Given the description of an element on the screen output the (x, y) to click on. 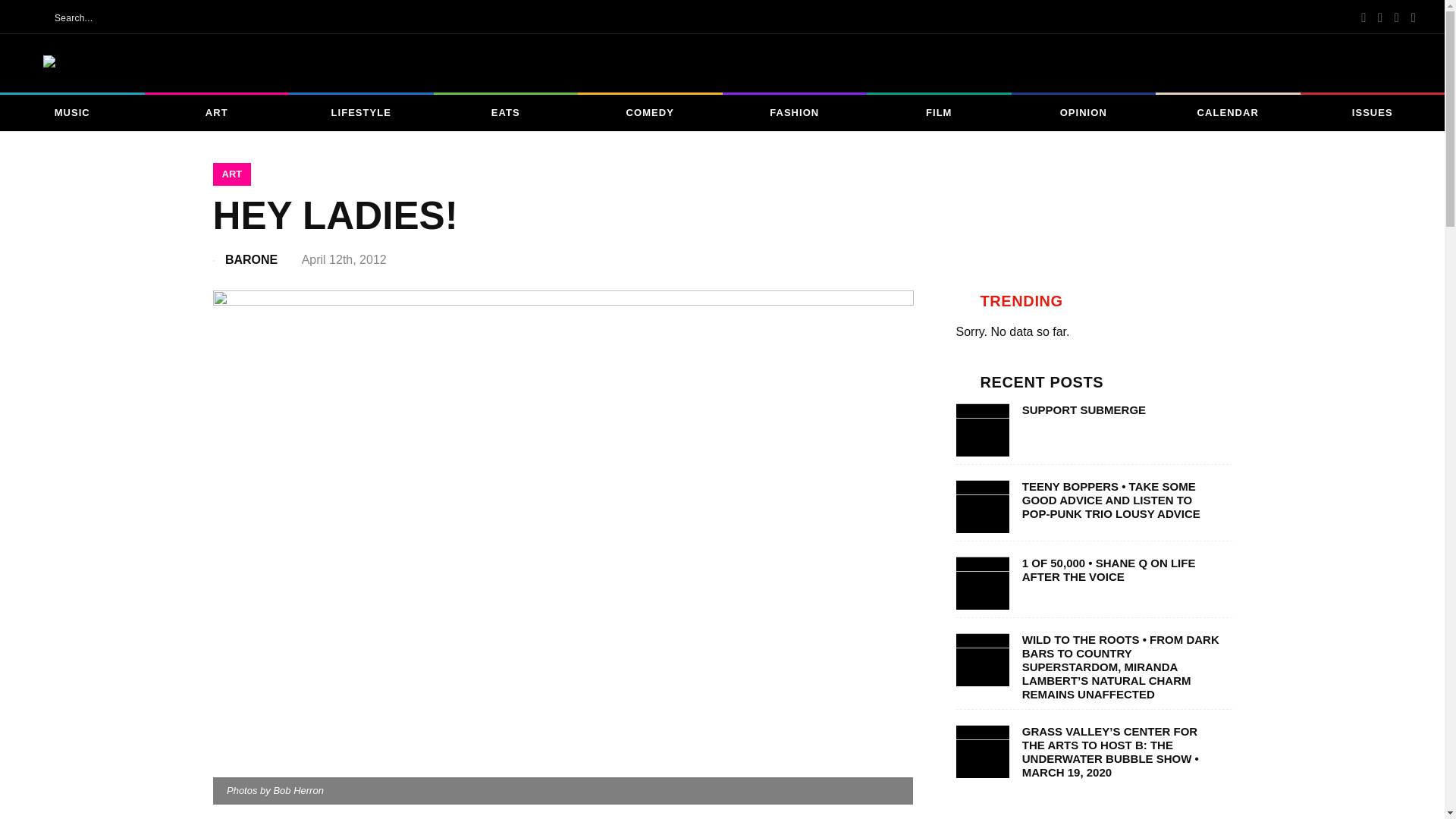
MUSIC (72, 113)
OPINION (1083, 113)
CALENDAR (1228, 113)
EATS (505, 113)
BARONE (261, 259)
SUPPORT SUBMERGE (1121, 409)
LIFESTYLE (360, 113)
FASHION (794, 113)
COMEDY (650, 113)
ART (231, 173)
